Given the description of an element on the screen output the (x, y) to click on. 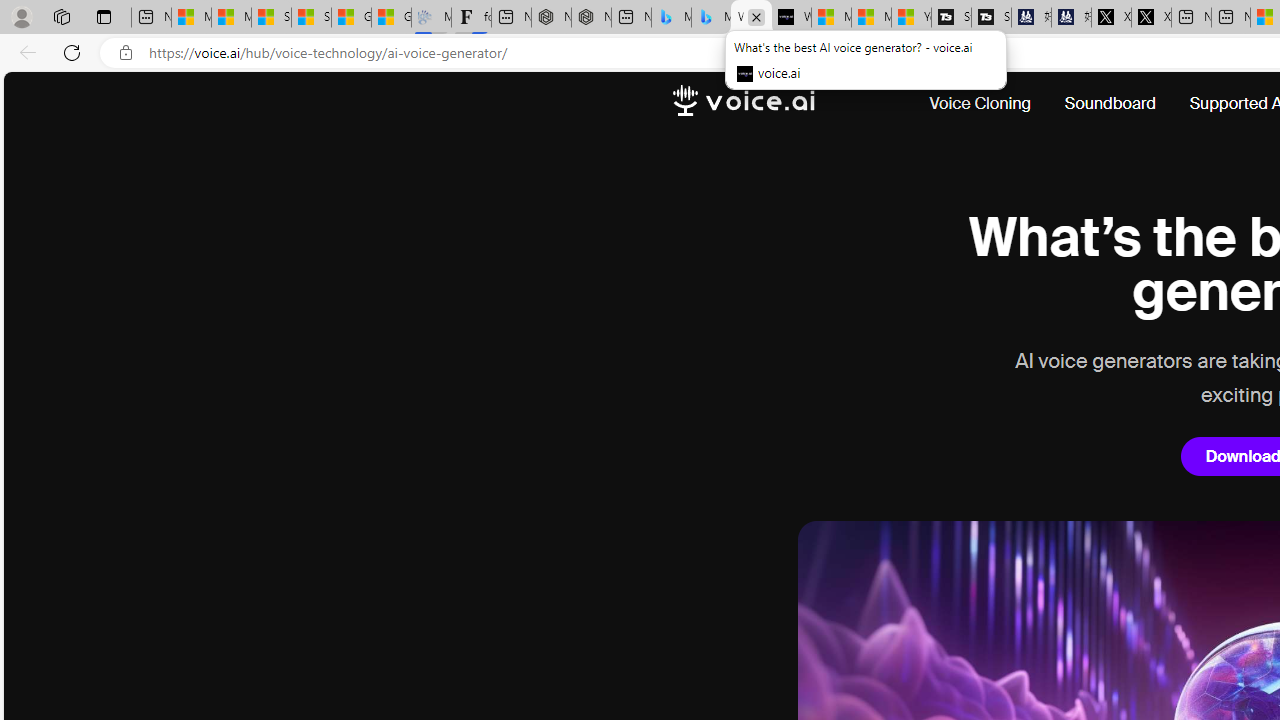
Voice Cloning (988, 103)
Gilma and Hector both pose tropical trouble for Hawaii (391, 17)
Shanghai, China weather forecast | Microsoft Weather (311, 17)
Microsoft Bing Travel - Shangri-La Hotel Bangkok (711, 17)
